Given the description of an element on the screen output the (x, y) to click on. 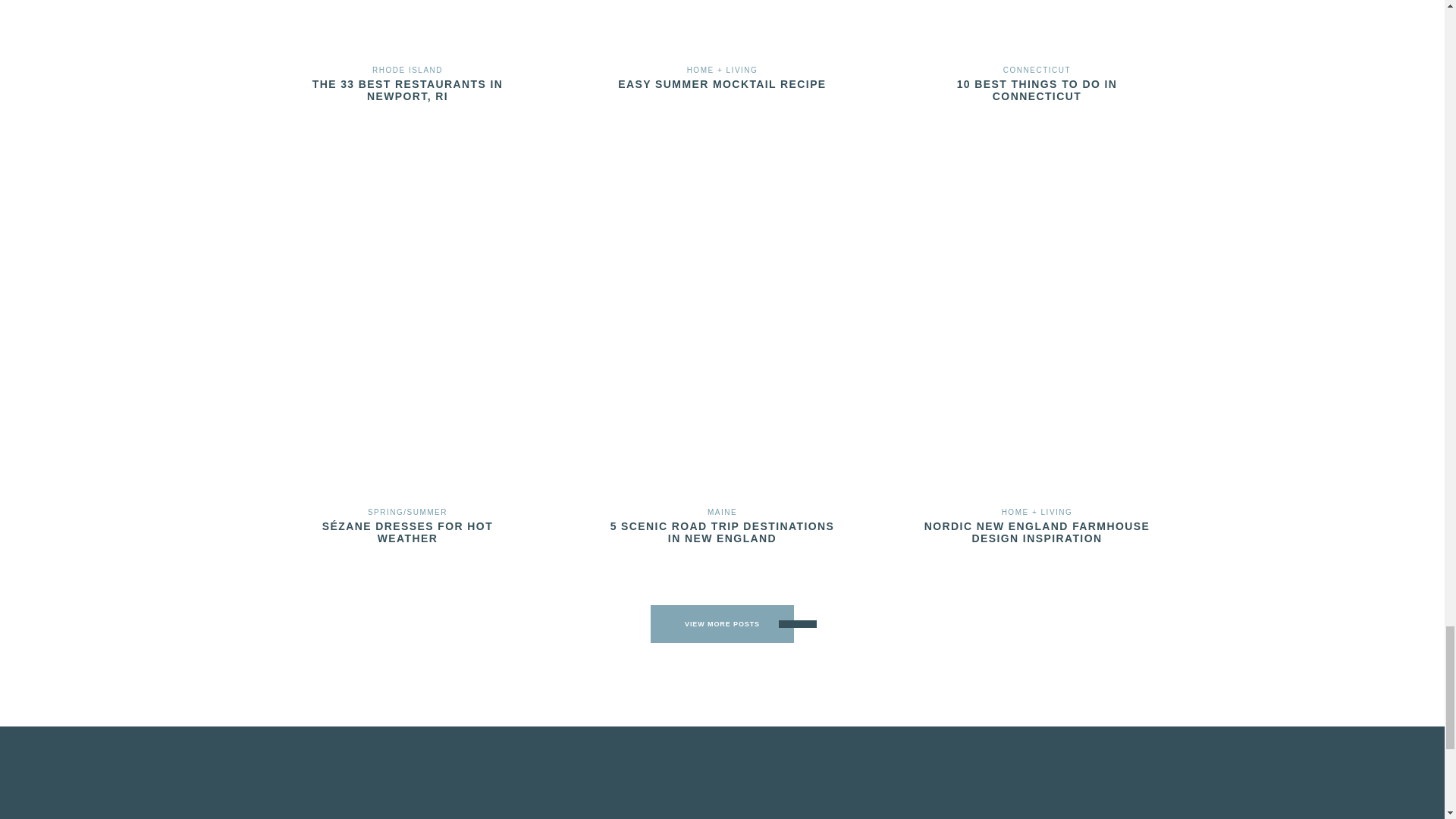
View all posts in Maine (721, 511)
View all posts in Connecticut (1036, 70)
View all posts in Rhode Island (407, 70)
